Given the description of an element on the screen output the (x, y) to click on. 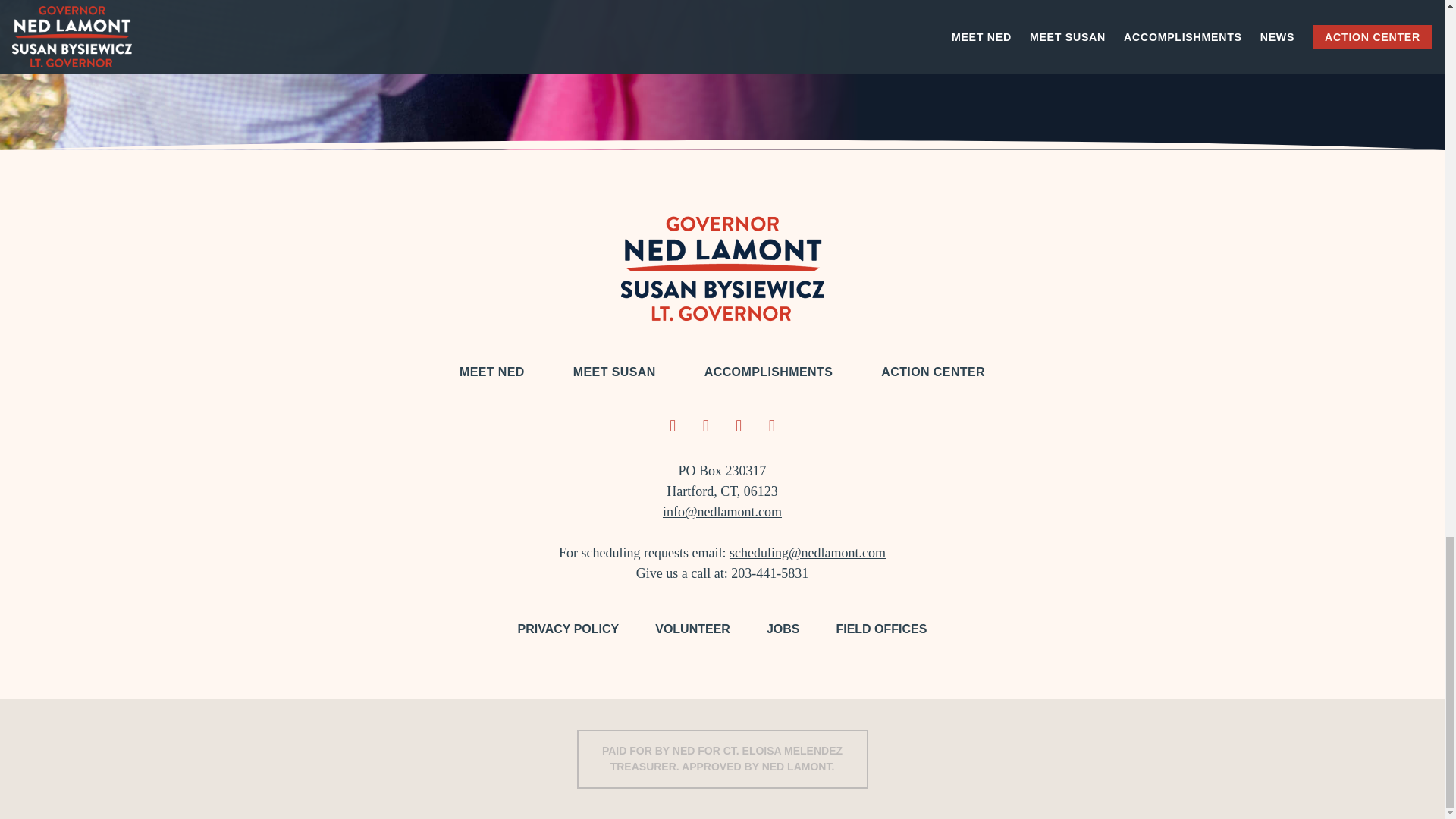
FIELD OFFICES (880, 628)
ACCOMPLISHMENTS (768, 371)
VOLUNTEER (692, 628)
MEET SUSAN (614, 371)
203-441-5831 (769, 572)
ACTION CENTER (932, 371)
JOBS (783, 628)
PRIVACY POLICY (569, 628)
MEET NED (492, 371)
